Given the description of an element on the screen output the (x, y) to click on. 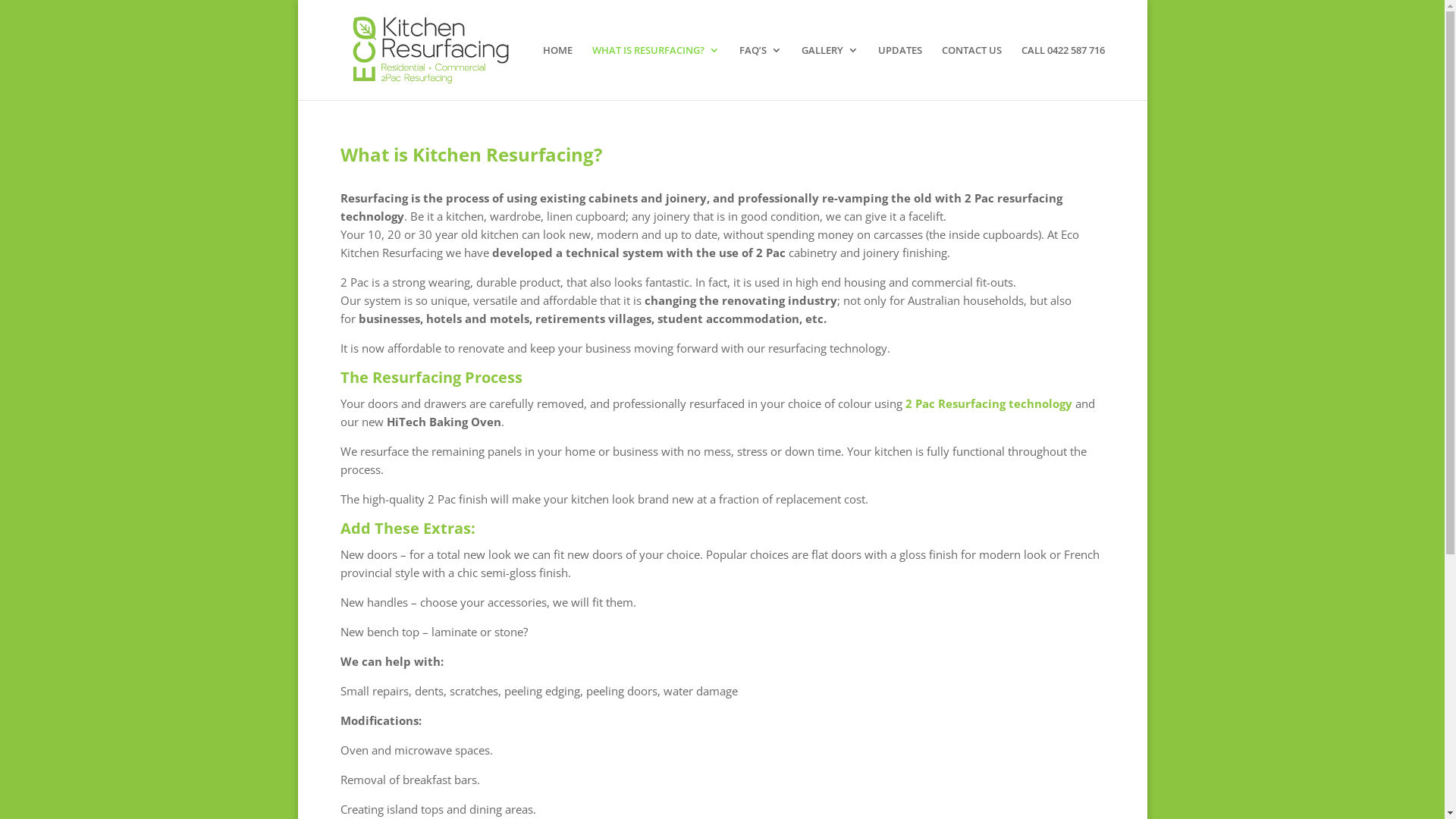
WHAT IS RESURFACING? Element type: text (654, 72)
UPDATES Element type: text (900, 72)
HOME Element type: text (557, 72)
2 Pac Resurfacing technology Element type: text (987, 403)
GALLERY Element type: text (828, 72)
CALL 0422 587 716 Element type: text (1062, 72)
CONTACT US Element type: text (971, 72)
